Given the description of an element on the screen output the (x, y) to click on. 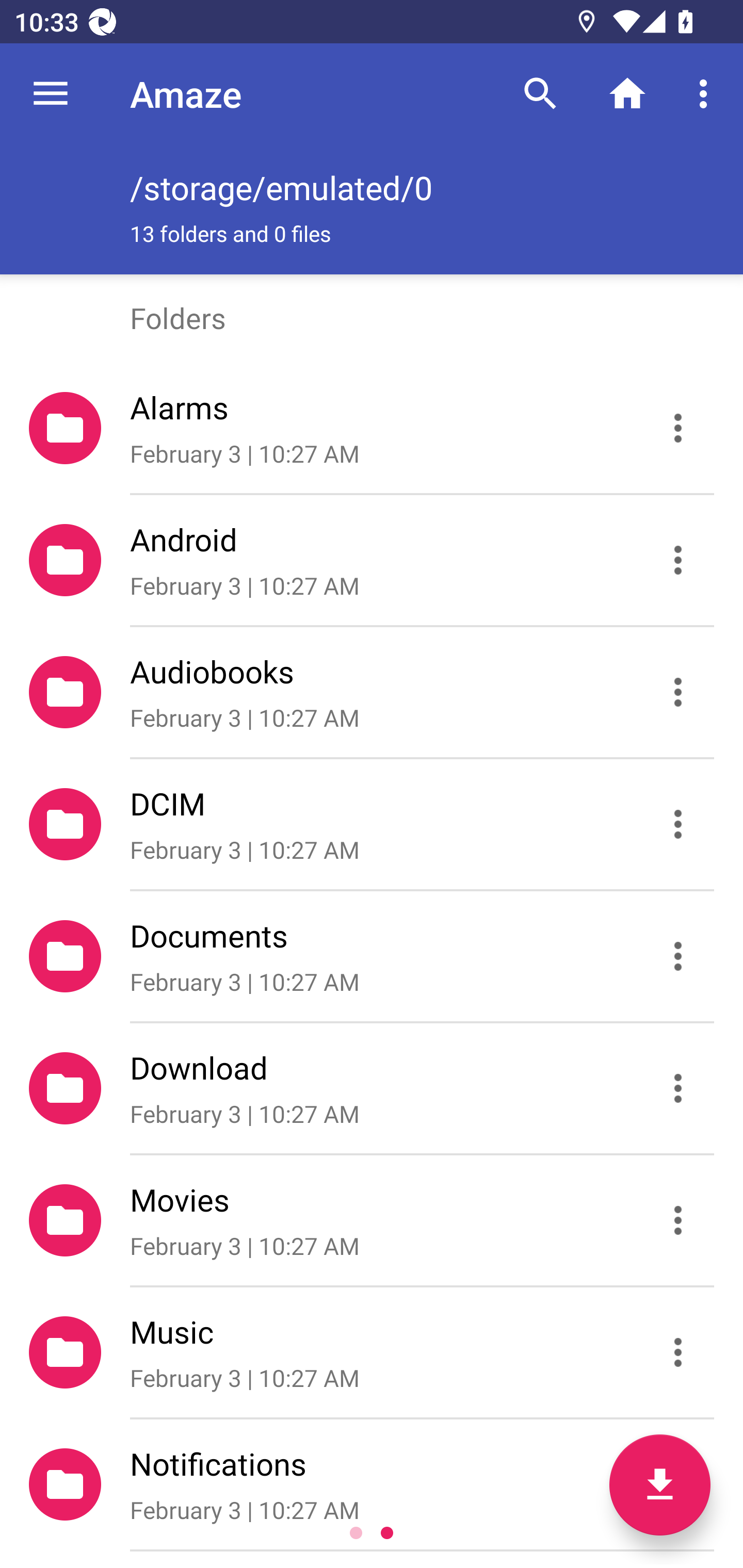
Navigate up (50, 93)
Search (540, 93)
Home (626, 93)
More options (706, 93)
Alarms February 3 | 10:27 AM (371, 427)
Android February 3 | 10:27 AM (371, 560)
Audiobooks February 3 | 10:27 AM (371, 692)
DCIM February 3 | 10:27 AM (371, 823)
Documents February 3 | 10:27 AM (371, 955)
Download February 3 | 10:27 AM (371, 1088)
Movies February 3 | 10:27 AM (371, 1220)
Music February 3 | 10:27 AM (371, 1352)
Notifications February 3 | 10:27 AM (371, 1484)
